Given the description of an element on the screen output the (x, y) to click on. 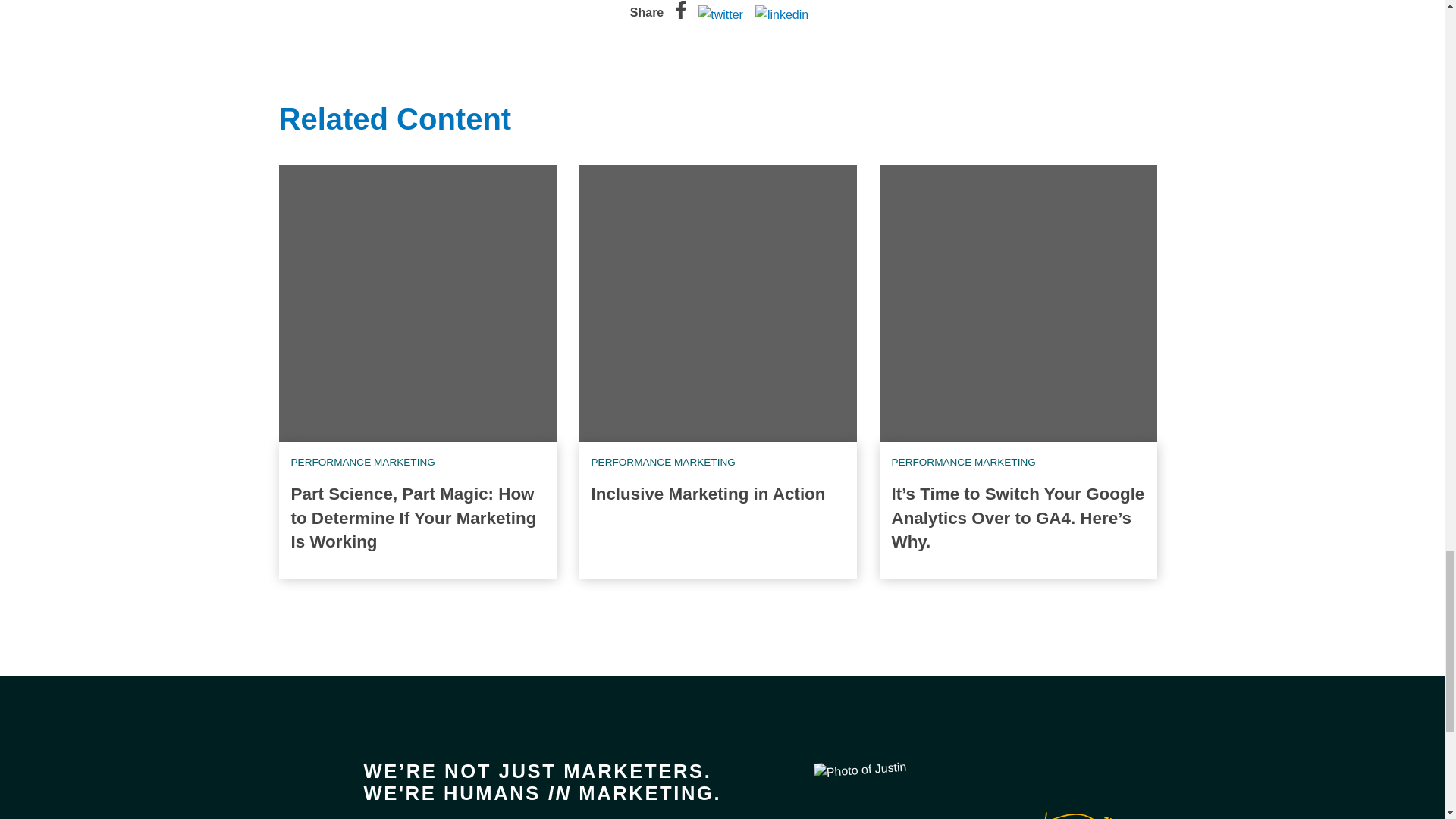
Inclusive Marketing in Action (708, 493)
Arrow pointing to employee photo (1067, 806)
twitter (720, 14)
linkedin (781, 14)
